Given the description of an element on the screen output the (x, y) to click on. 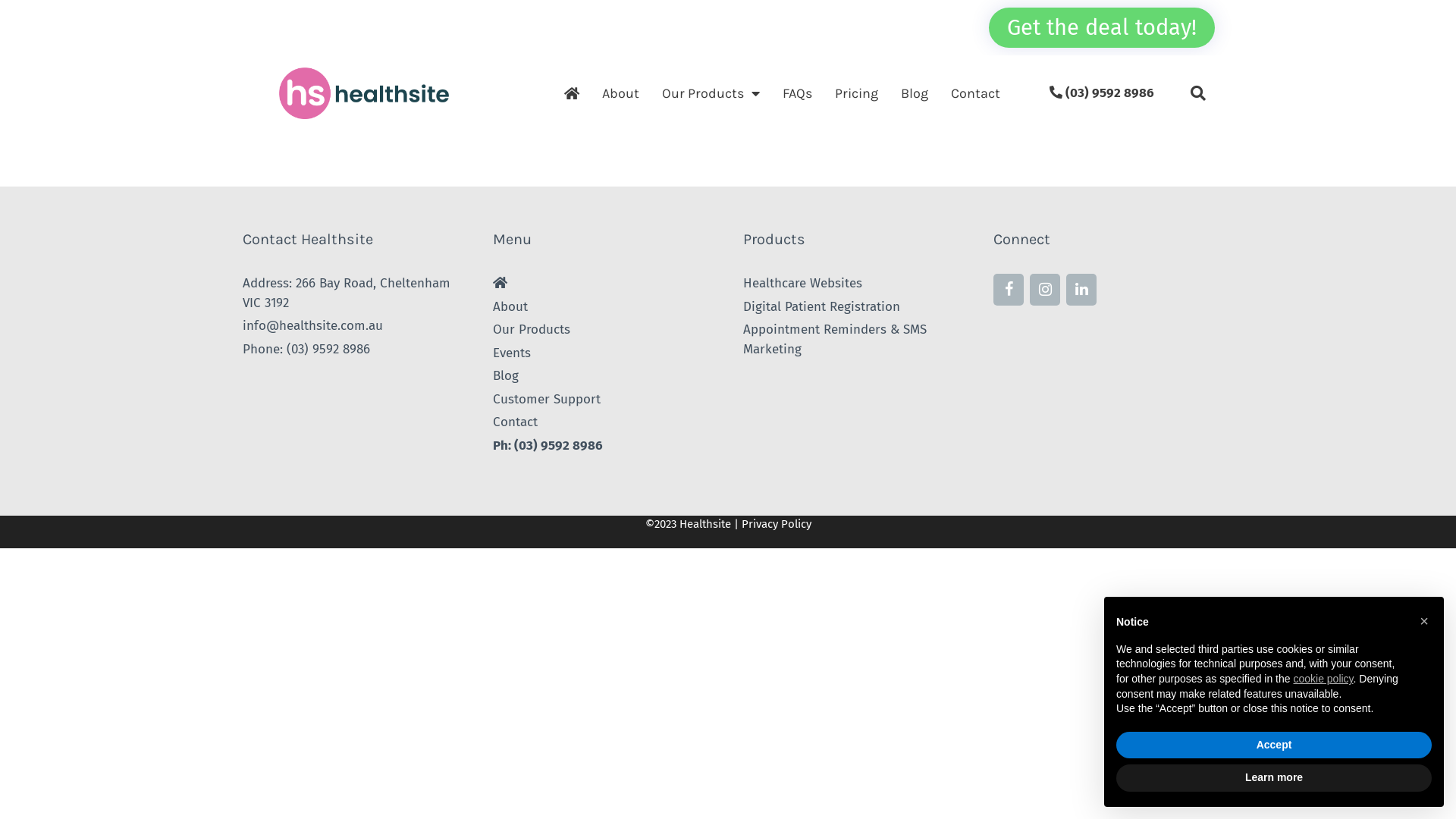
(03) 9592 8986 Element type: text (1101, 93)
Digital Patient Registration Element type: text (821, 306)
Contact Element type: text (514, 421)
Get the deal today! Element type: text (1101, 27)
Our Products Element type: text (531, 329)
About Element type: text (620, 93)
Learn more Element type: text (1273, 777)
Healthcare Websites Element type: text (802, 283)
About Element type: text (509, 306)
Accept Element type: text (1273, 745)
Blog Element type: text (914, 93)
FAQs Element type: text (797, 93)
Customer Support Element type: text (546, 399)
Events Element type: text (511, 352)
cookie policy Element type: text (1322, 678)
info@healthsite.com.au Element type: text (312, 325)
Our Products Element type: text (710, 93)
Ph: (03) 9592 8986 Element type: text (547, 445)
Appointment Reminders & SMS Marketing Element type: text (834, 339)
Pricing Element type: text (856, 93)
(03) 9592 8986 Element type: text (328, 349)
Healthsite Element type: text (705, 523)
Blog Element type: text (505, 375)
Contact Element type: text (975, 93)
Privacy Policy Element type: text (776, 523)
